Given the description of an element on the screen output the (x, y) to click on. 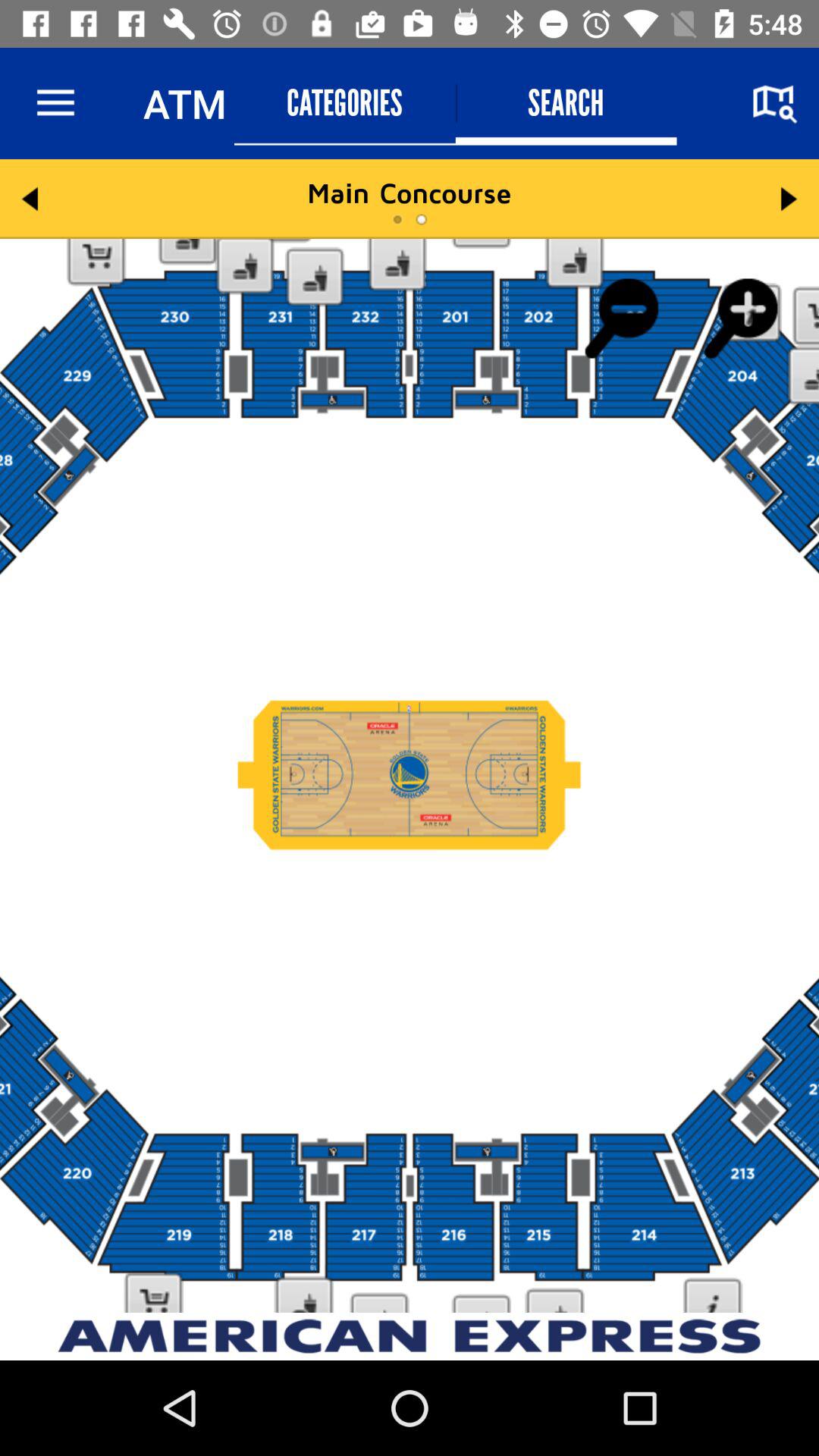
view seating chart (409, 775)
